Given the description of an element on the screen output the (x, y) to click on. 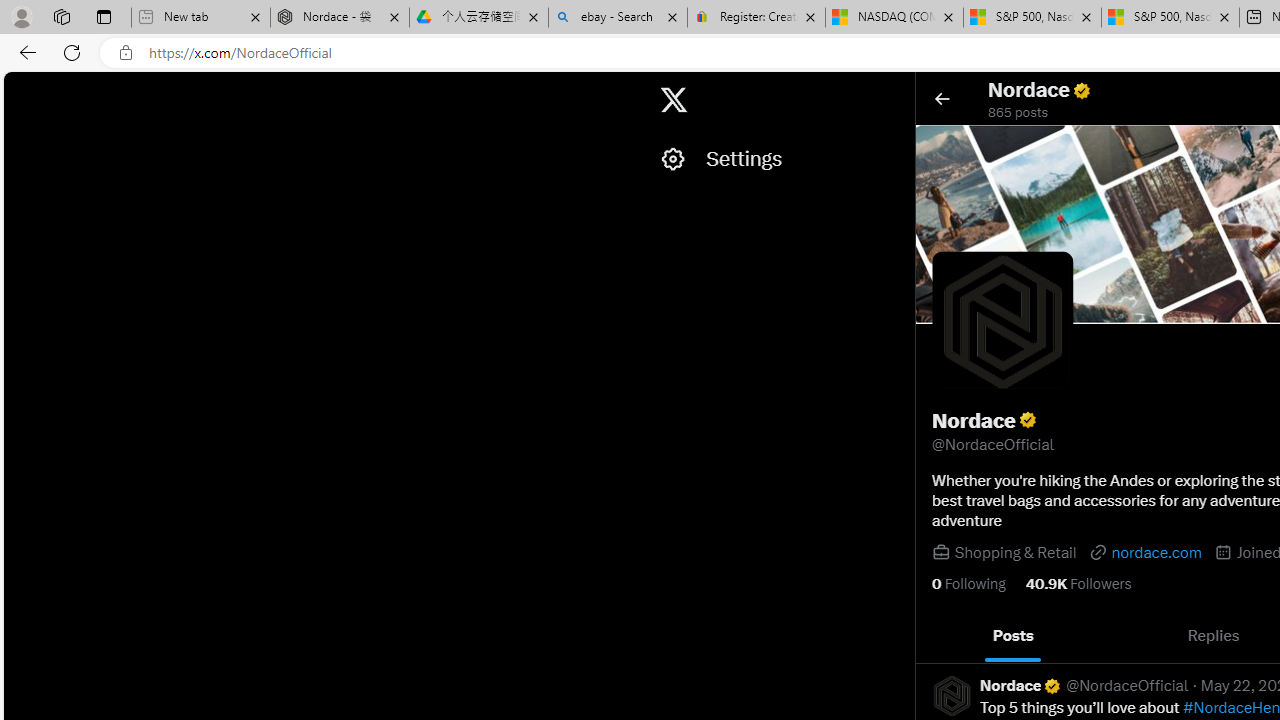
Register: Create a personal eBay account (756, 17)
Skip to home timeline (21, 90)
@NordaceOfficial (1127, 685)
Provides details about verified accounts. (1027, 420)
Posts (1013, 636)
Square profile picture (952, 695)
nordace.com (1144, 552)
0 Following (968, 583)
New tab - Sleeping (200, 17)
